Given the description of an element on the screen output the (x, y) to click on. 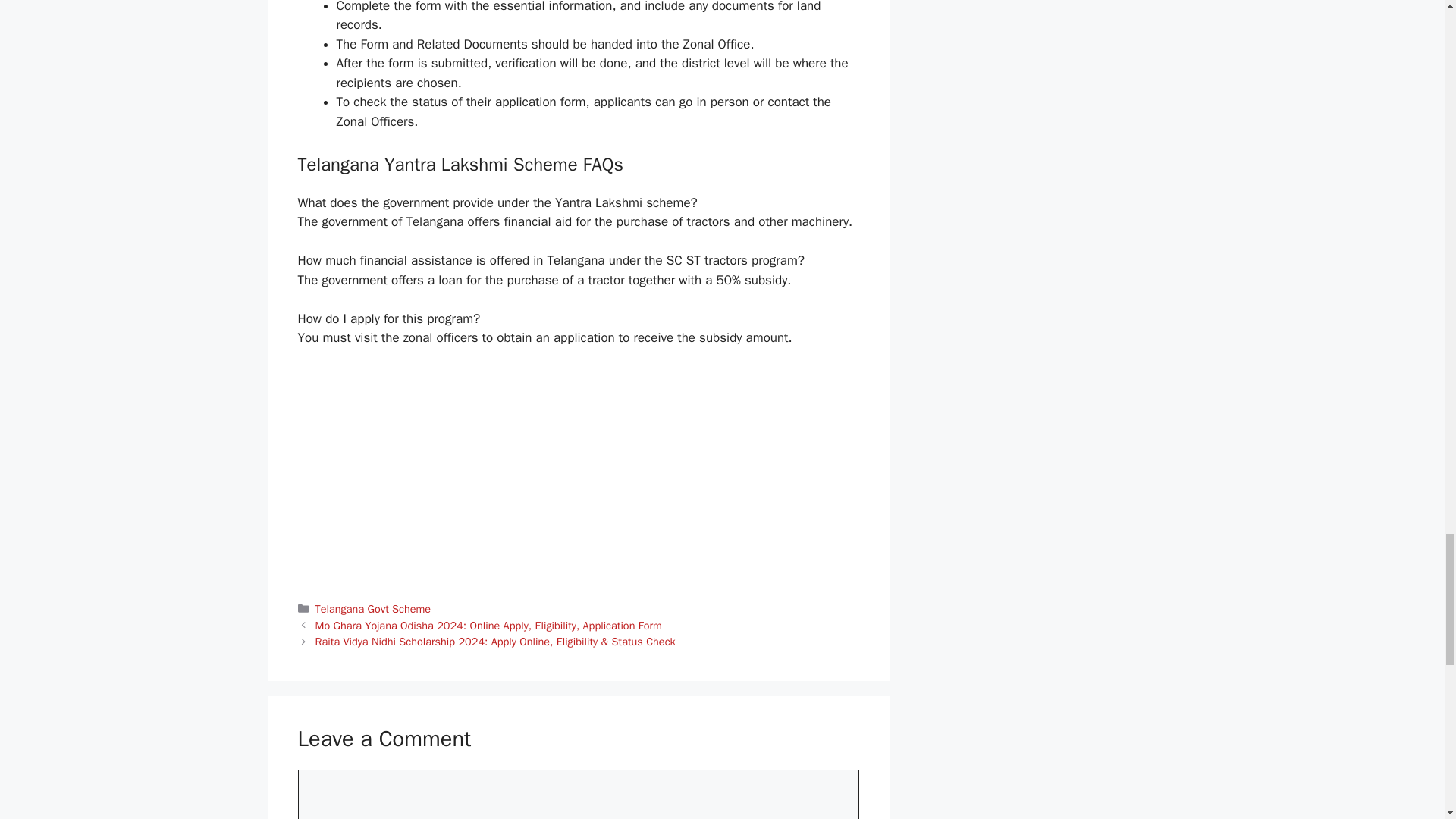
Telangana Govt Scheme (372, 608)
